Given the description of an element on the screen output the (x, y) to click on. 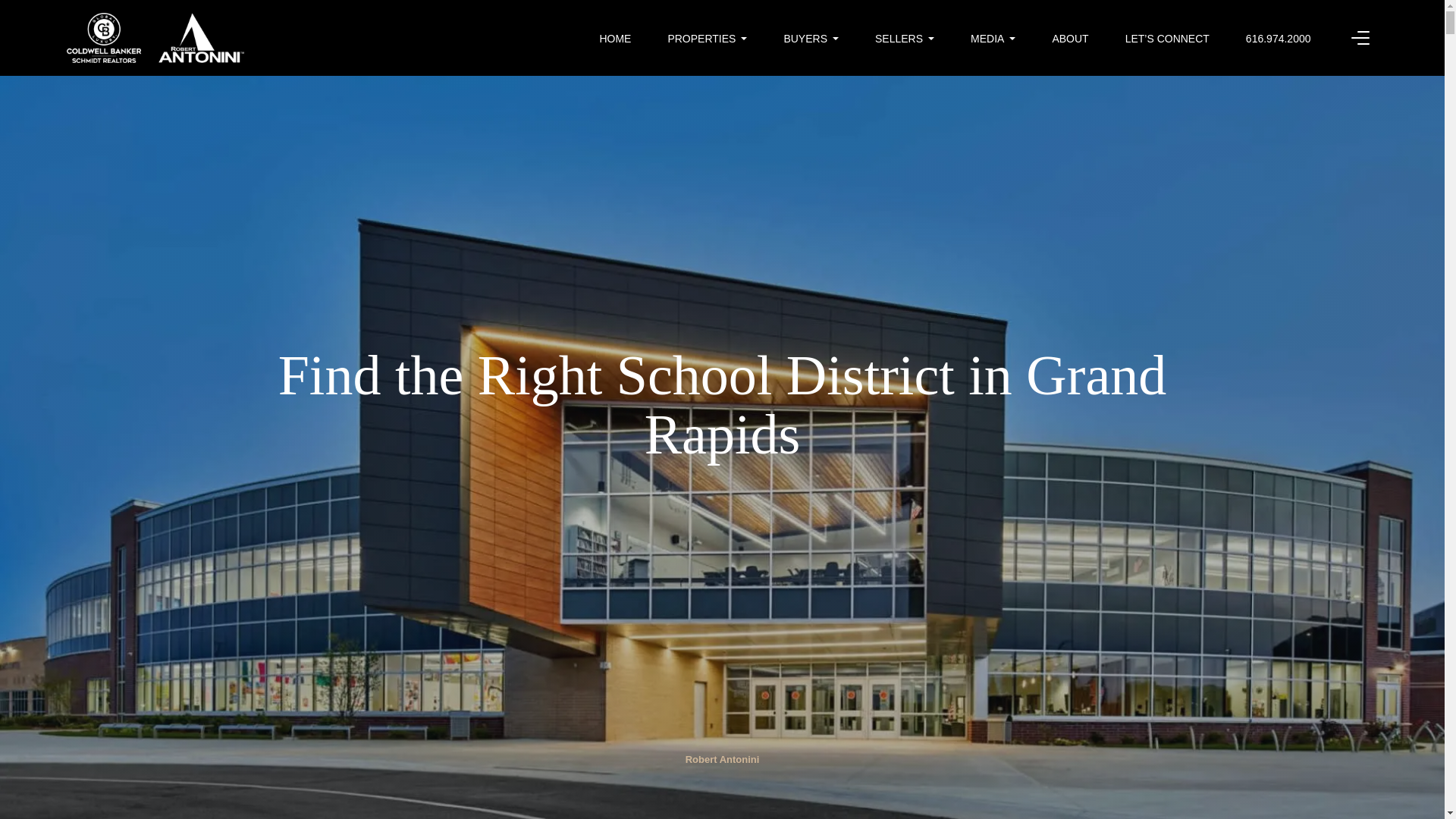
SELLERS (904, 38)
ABOUT (1069, 38)
MEDIA (992, 38)
PROPERTIES (706, 38)
BUYERS (810, 38)
616.974.2000 (1278, 38)
HOME (614, 38)
